Given the description of an element on the screen output the (x, y) to click on. 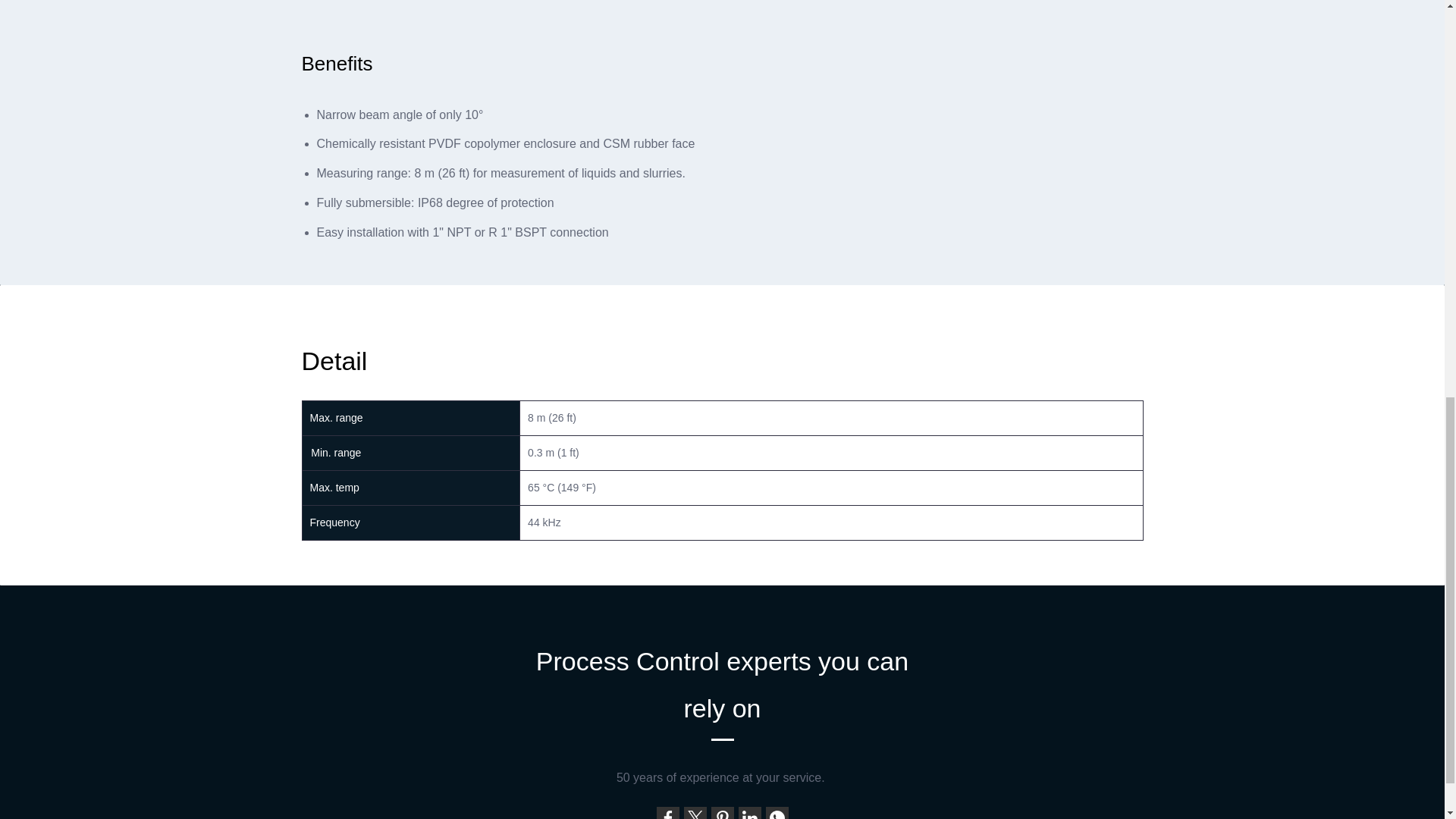
WhatsApp (777, 812)
Pinterest (722, 812)
Twitter (695, 812)
LinkedIn (749, 812)
Facebook (667, 812)
